Given the description of an element on the screen output the (x, y) to click on. 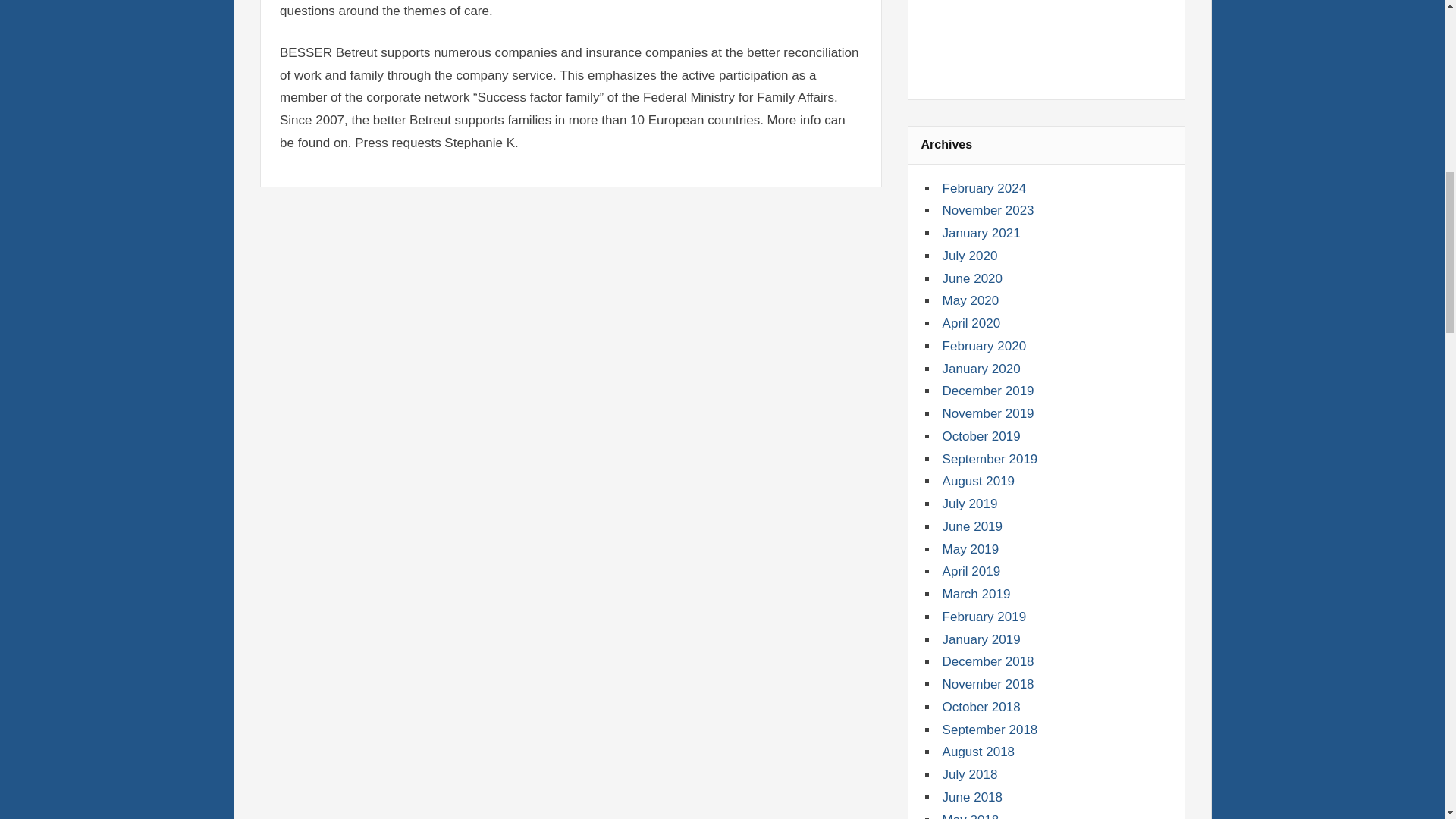
January 2019 (981, 639)
November 2019 (987, 413)
October 2019 (981, 436)
August 2019 (978, 481)
June 2019 (972, 526)
February 2024 (984, 187)
June 2020 (972, 278)
December 2018 (987, 661)
July 2019 (969, 503)
May 2020 (970, 300)
